Given the description of an element on the screen output the (x, y) to click on. 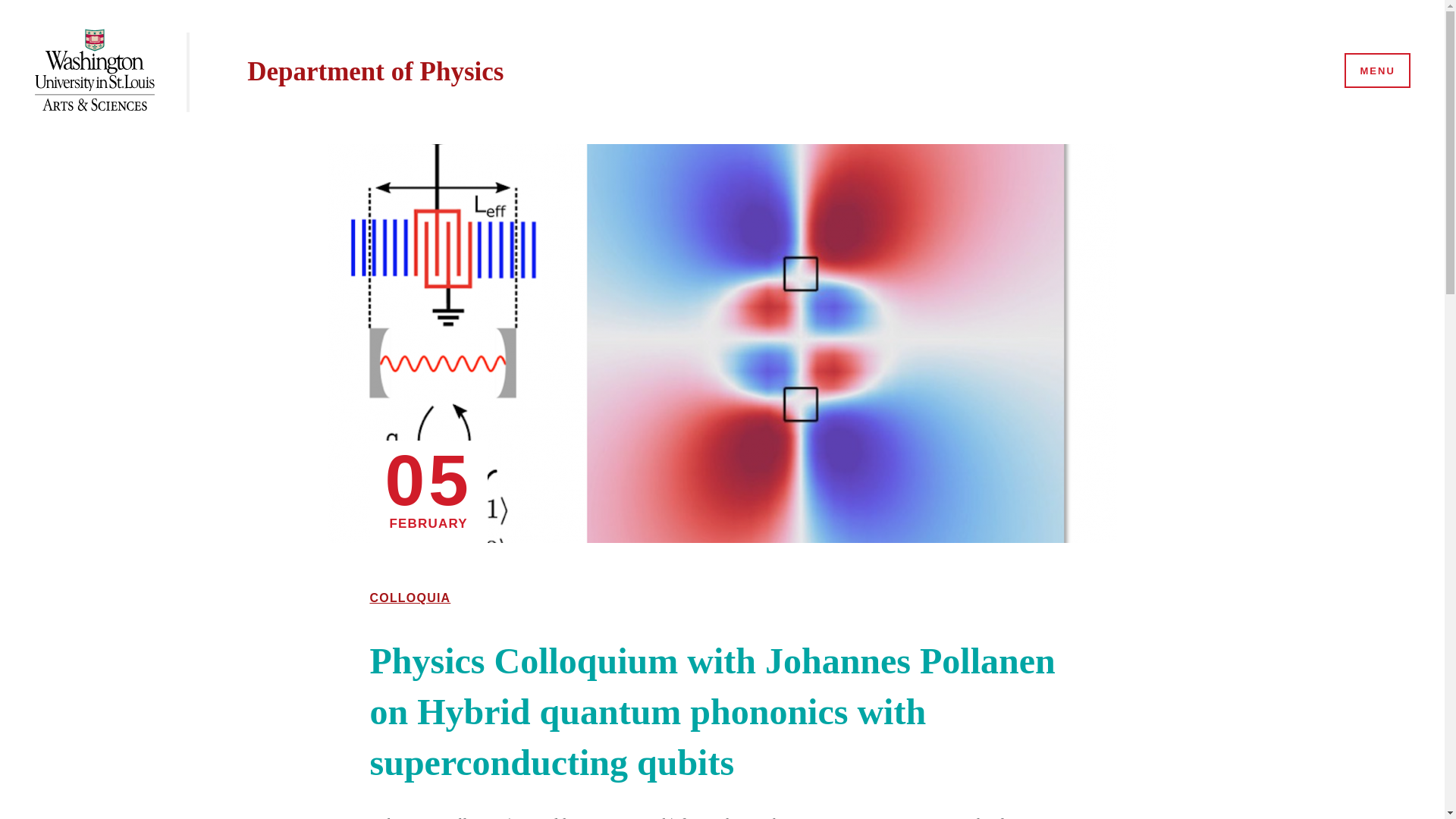
MENU (1376, 71)
COLLOQUIA (410, 597)
Department of Physics (375, 71)
